Given the description of an element on the screen output the (x, y) to click on. 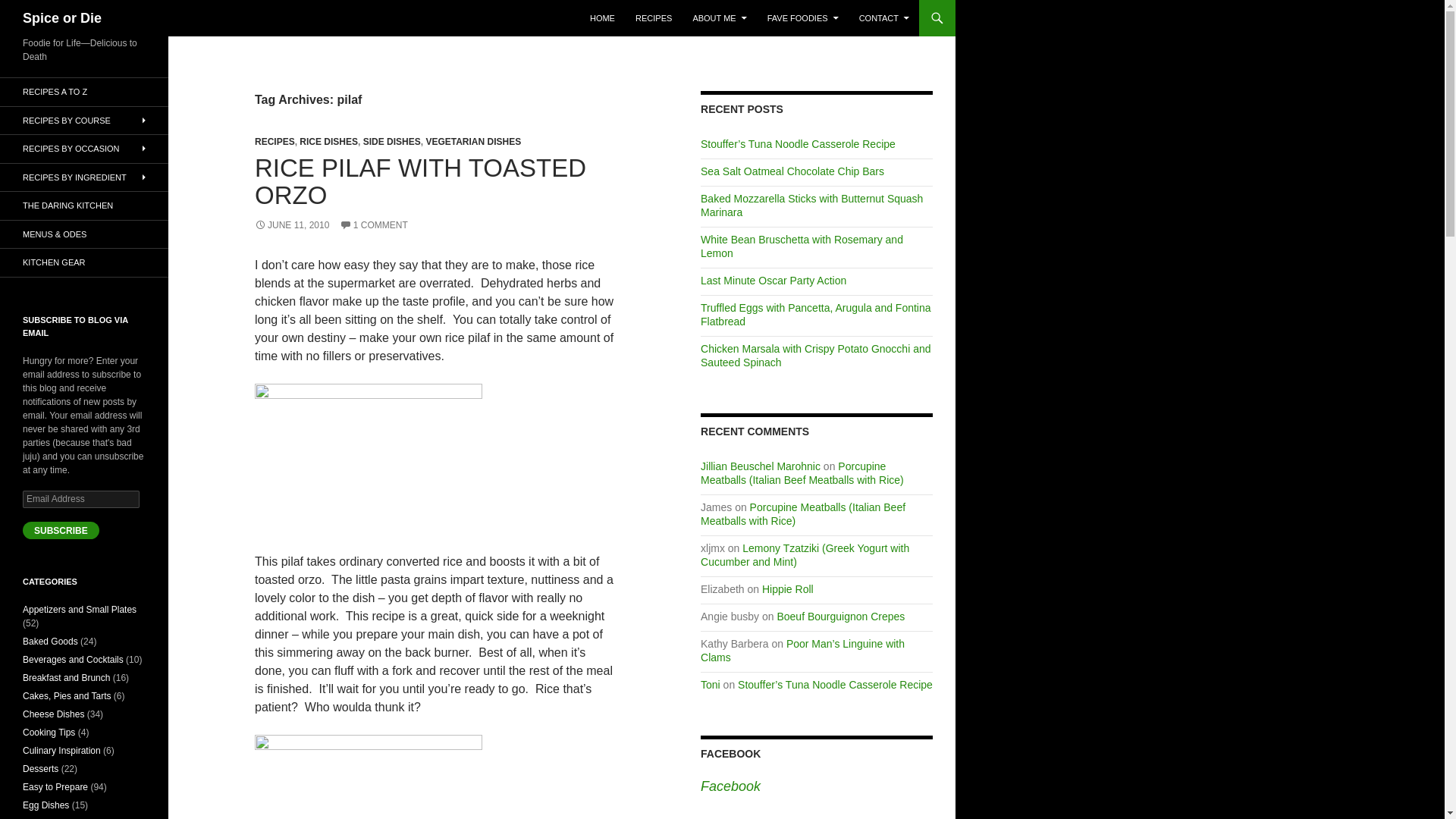
FAVE FOODIES (802, 18)
RICE DISHES (328, 141)
ABOUT ME (718, 18)
RECIPES (274, 141)
RICE PILAF WITH TOASTED ORZO (420, 181)
HOME (602, 18)
CONTACT (884, 18)
1 COMMENT (373, 225)
RECIPES (653, 18)
SIDE DISHES (391, 141)
